Given the description of an element on the screen output the (x, y) to click on. 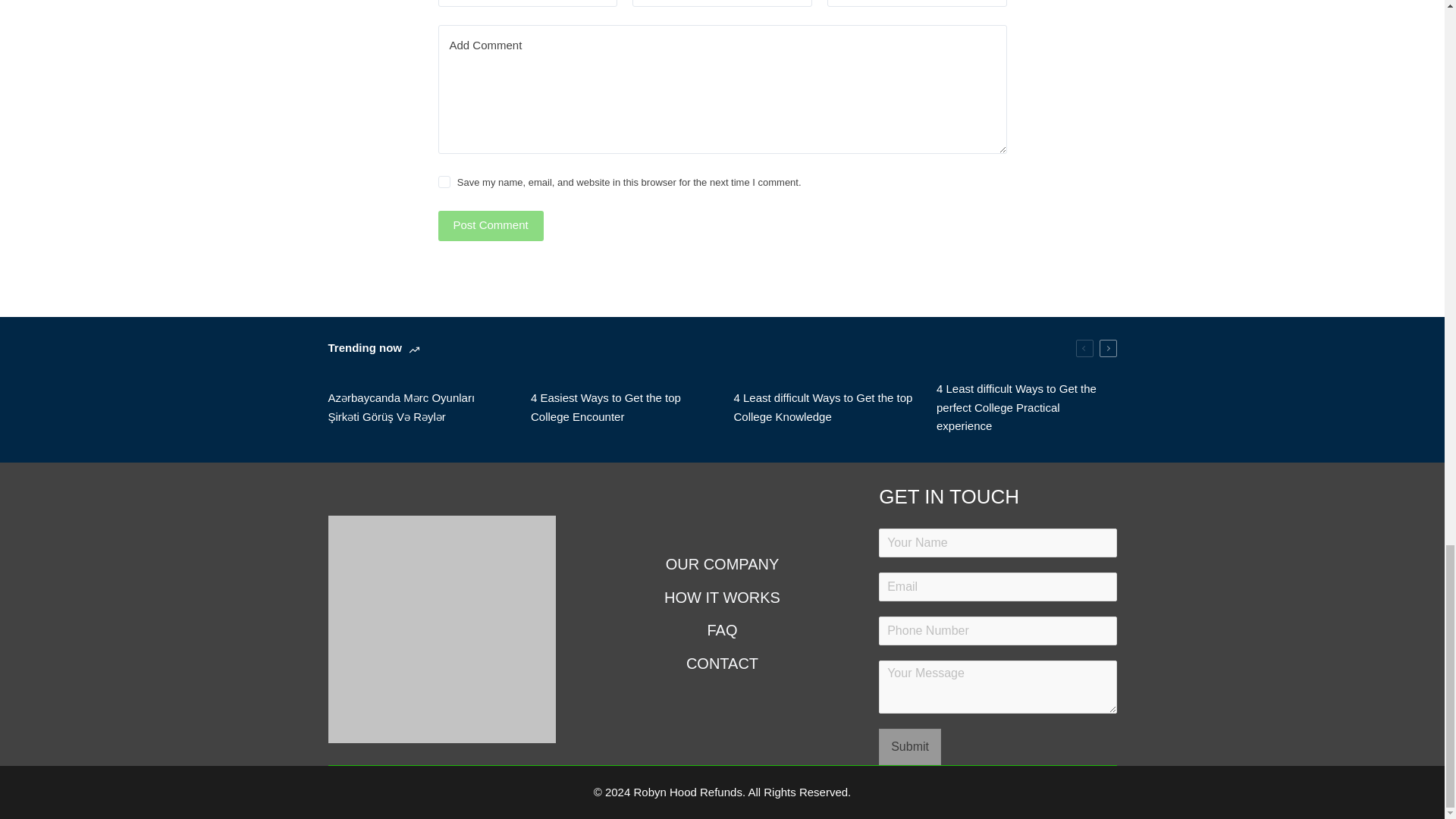
Submit (909, 746)
FAQ (721, 629)
4 Least difficult Ways to Get the top College Knowledge (823, 407)
OUR COMPANY (721, 564)
HOW IT WORKS (721, 597)
CONTACT (721, 663)
4 Easiest Ways to Get the top College Encounter (621, 407)
yes (443, 182)
Post Comment (490, 225)
